Given the description of an element on the screen output the (x, y) to click on. 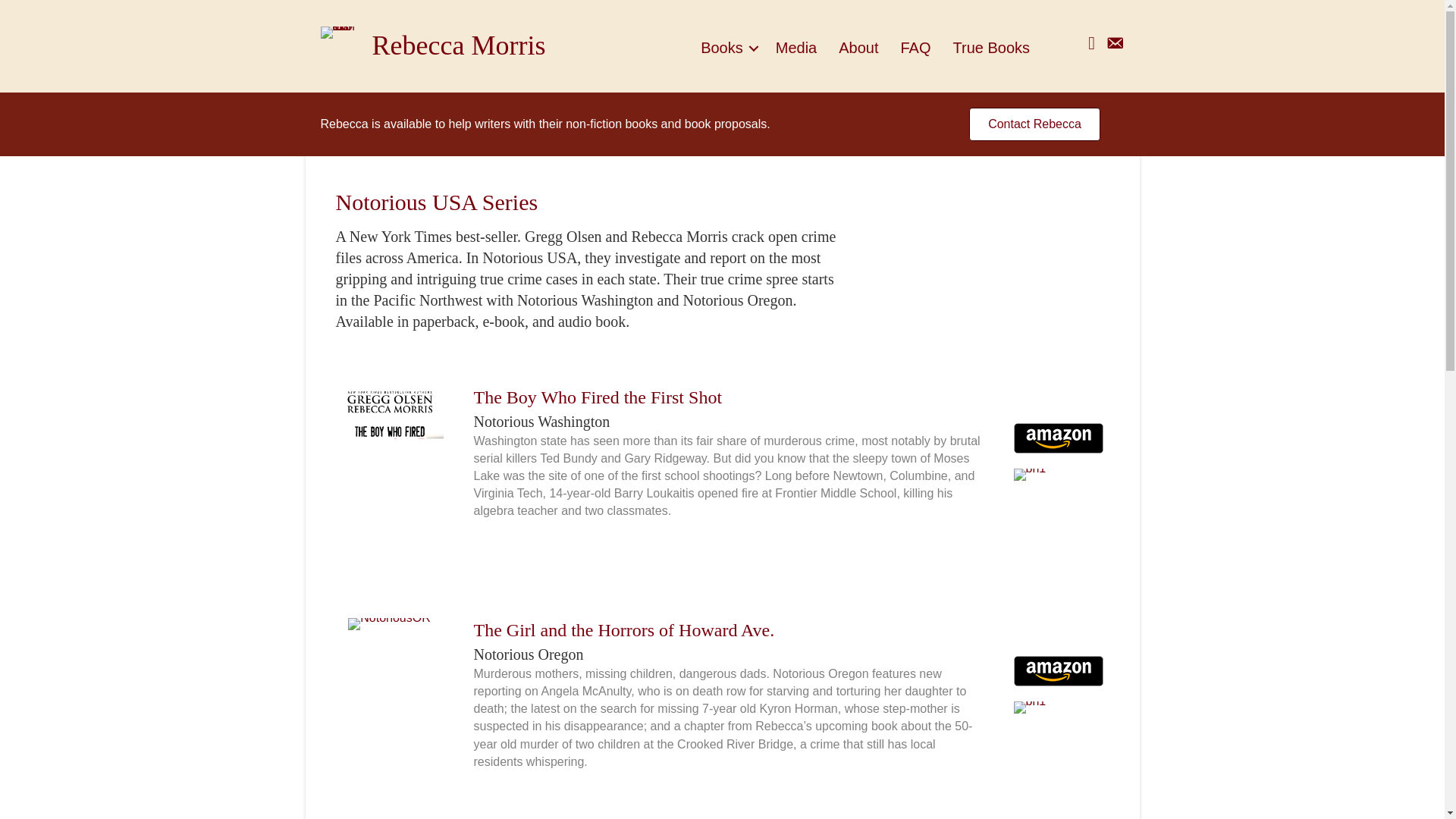
amazon1 (1057, 438)
True Books (991, 47)
Rebecca Morris (457, 45)
FAQ (915, 47)
amazon1 (1057, 671)
Books (727, 47)
bn1 (1029, 474)
About (858, 47)
NotoriousWA (388, 470)
Media (796, 47)
ms-icon-310x310 (338, 32)
bn1 (1029, 707)
Contact Rebecca (1034, 123)
Rebecca Morris (457, 45)
